Given the description of an element on the screen output the (x, y) to click on. 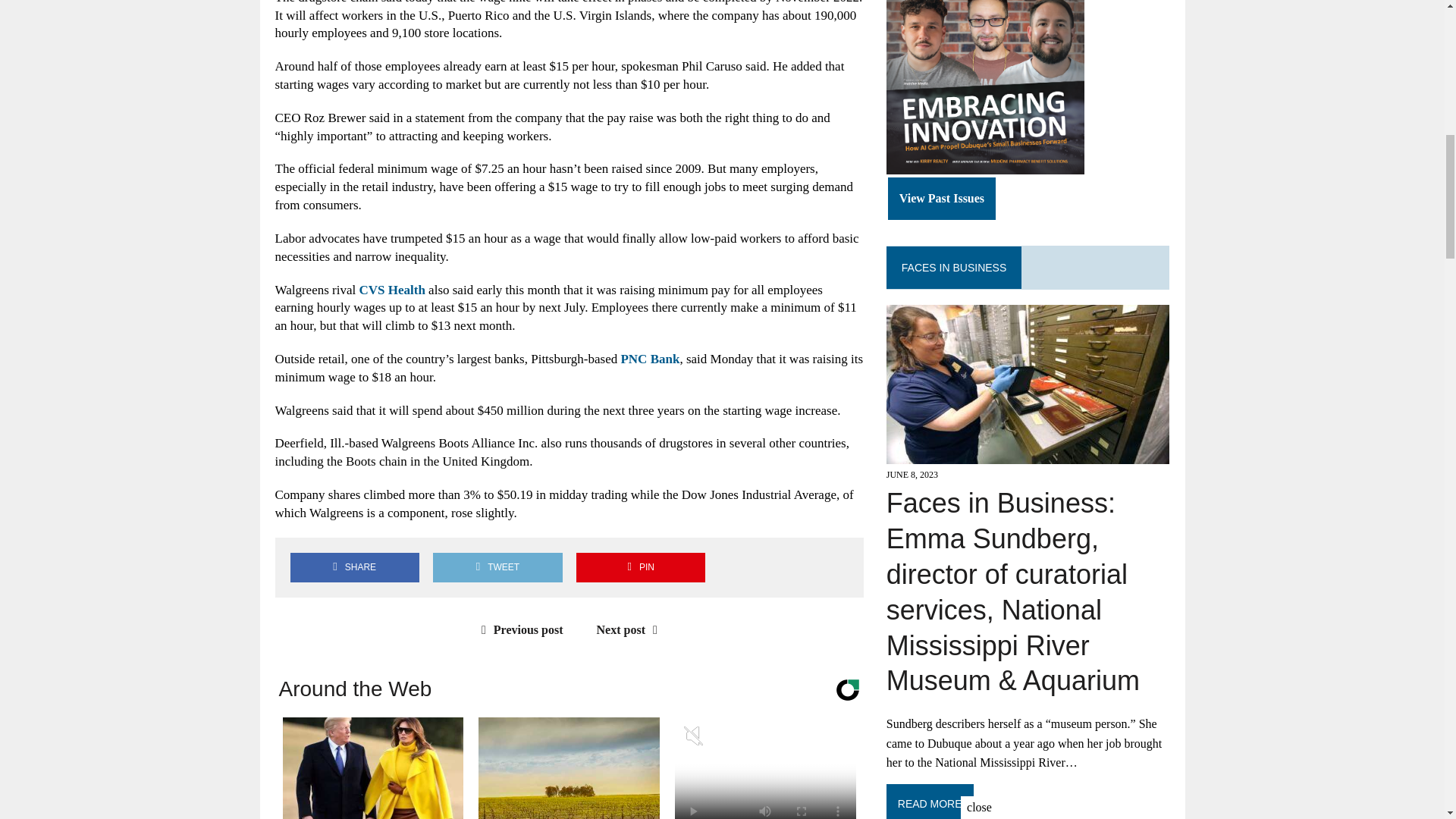
Share on Facebook (354, 567)
Pin This Post (640, 567)
Tweet This Post (497, 567)
